Given the description of an element on the screen output the (x, y) to click on. 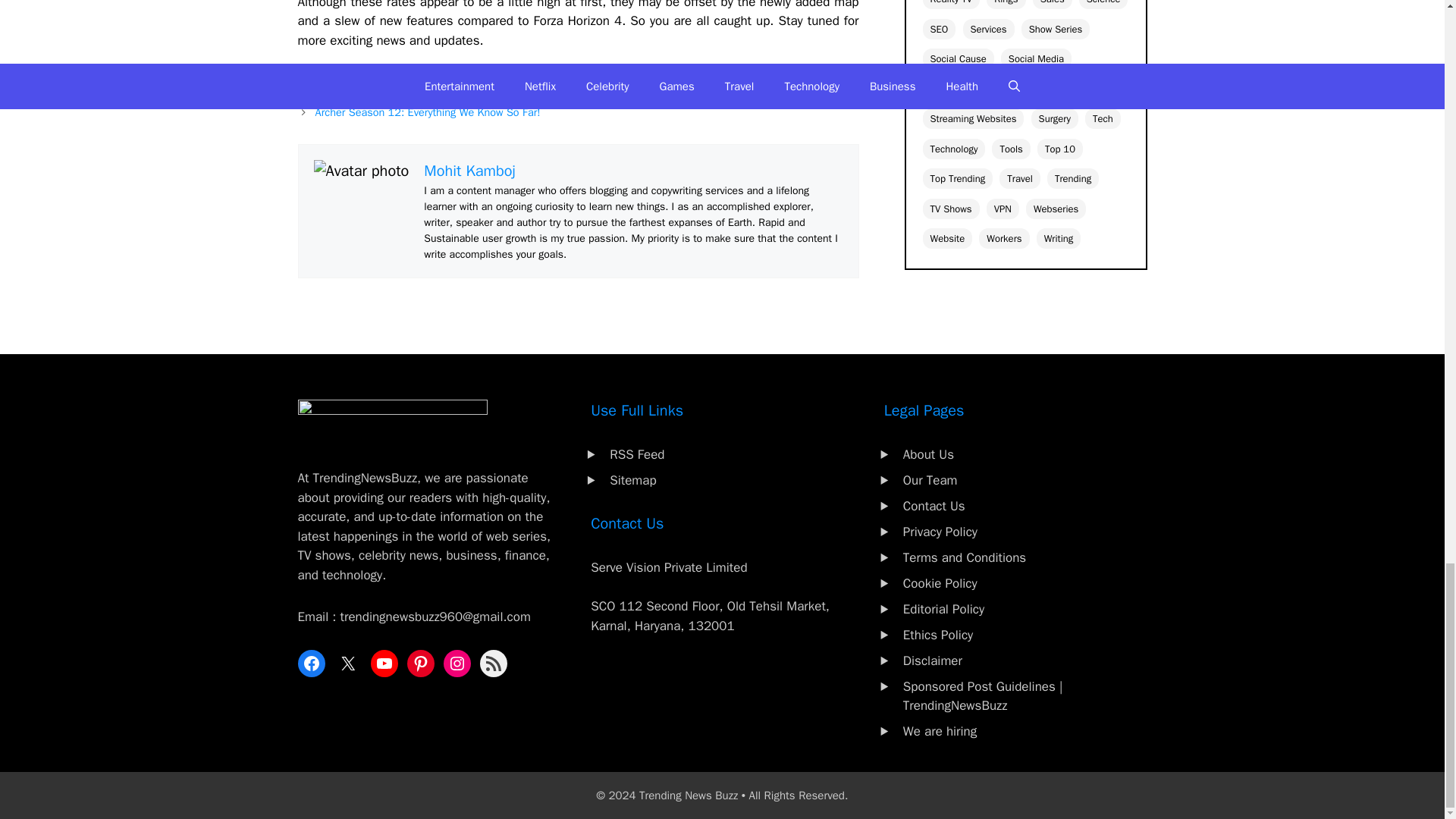
Games (332, 79)
Mohit Kamboj (469, 170)
Archer Season 12: Everything We Know So Far! (427, 111)
Trendingnewsbuzz-white (391, 422)
